Given the description of an element on the screen output the (x, y) to click on. 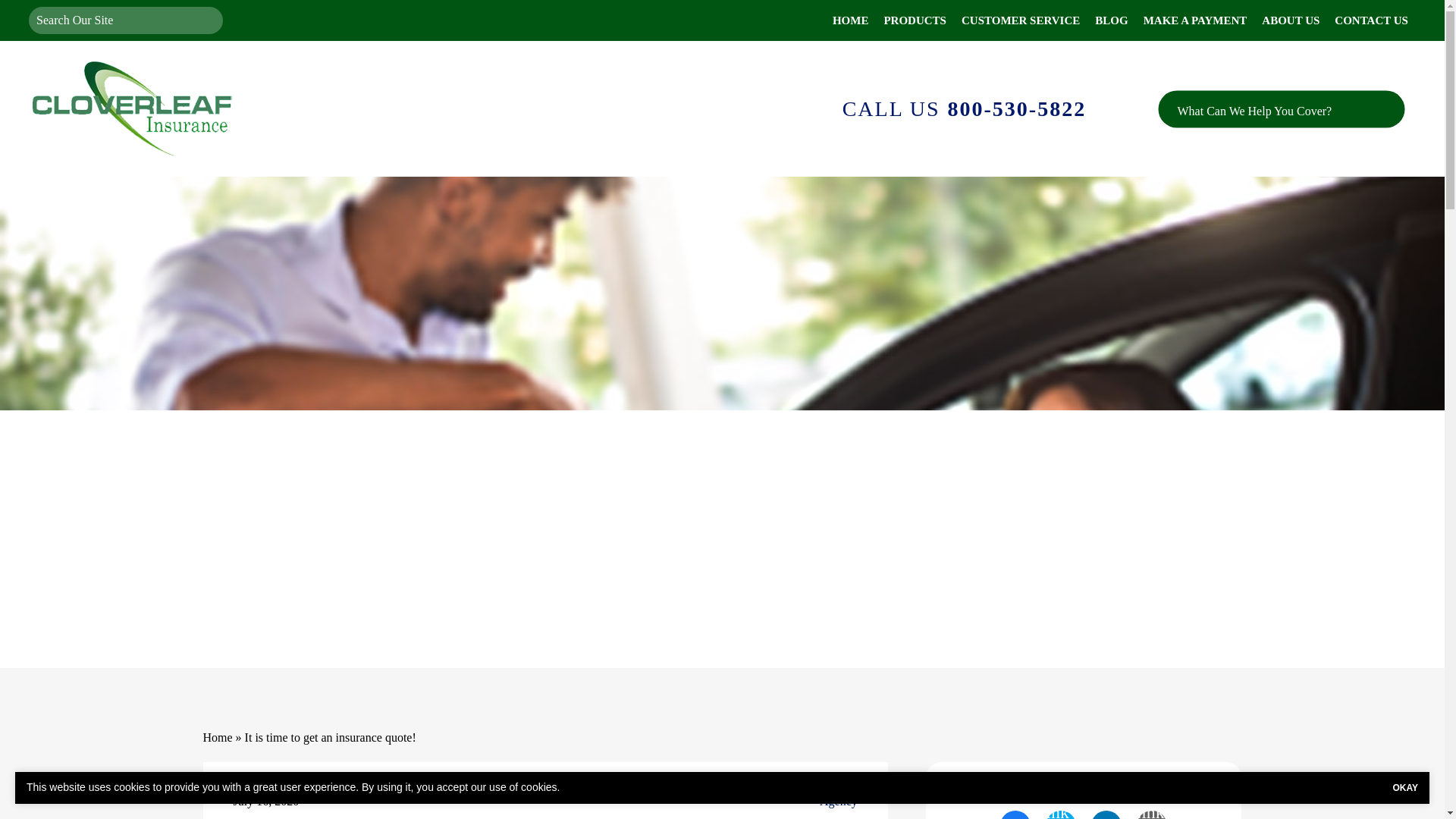
Agency (838, 801)
Agency (838, 801)
CONTACT US (1370, 20)
Share Link to Twitter (1060, 814)
BLOG (1111, 20)
ABOUT US (1289, 20)
CUSTOMER SERVICE (1020, 20)
Home (217, 737)
PRODUCTS (914, 20)
Search (205, 20)
